Given the description of an element on the screen output the (x, y) to click on. 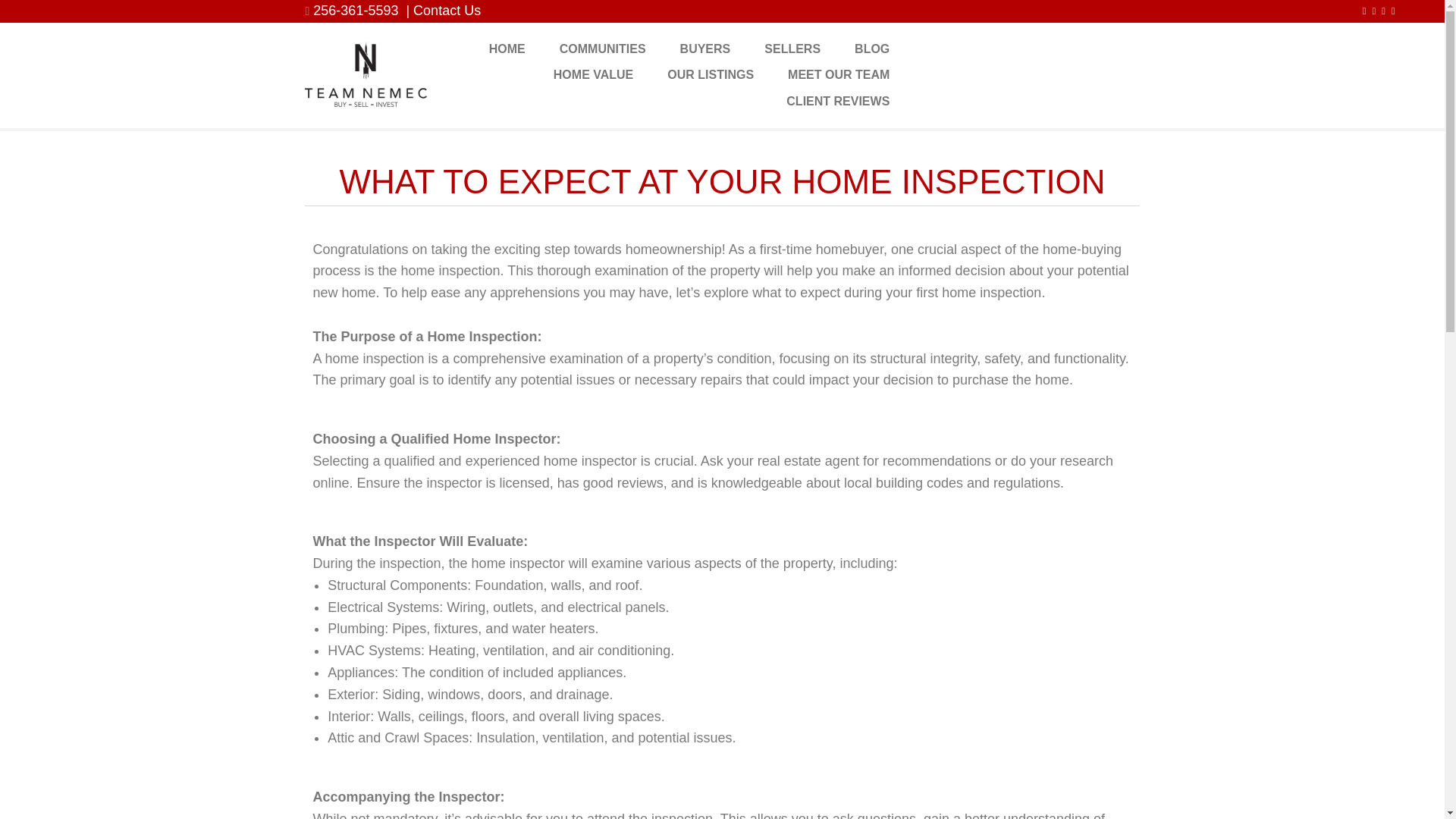
COMMUNITIES (602, 49)
CLIENT REVIEWS (837, 101)
BUYERS (705, 49)
HOME VALUE (592, 74)
HOME (507, 49)
MEET OUR TEAM (838, 74)
Team Nemec (365, 72)
OUR LISTINGS (710, 74)
256-361-5593 (355, 10)
BLOG (872, 49)
SELLERS (792, 49)
